Given the description of an element on the screen output the (x, y) to click on. 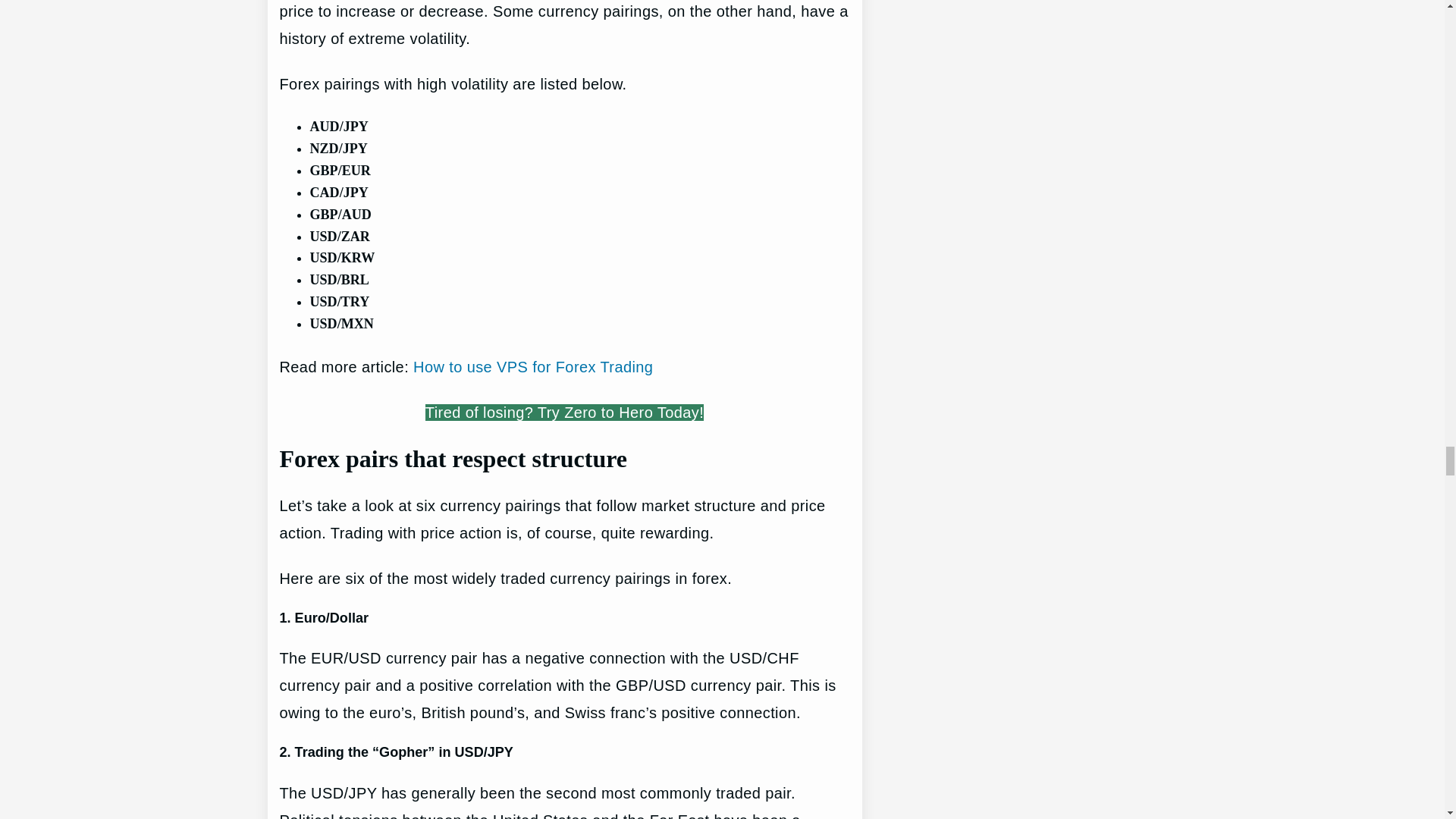
How to use VPS for Forex Trading (532, 366)
Tired of losing? Try Zero to Hero Today! (564, 412)
